Given the description of an element on the screen output the (x, y) to click on. 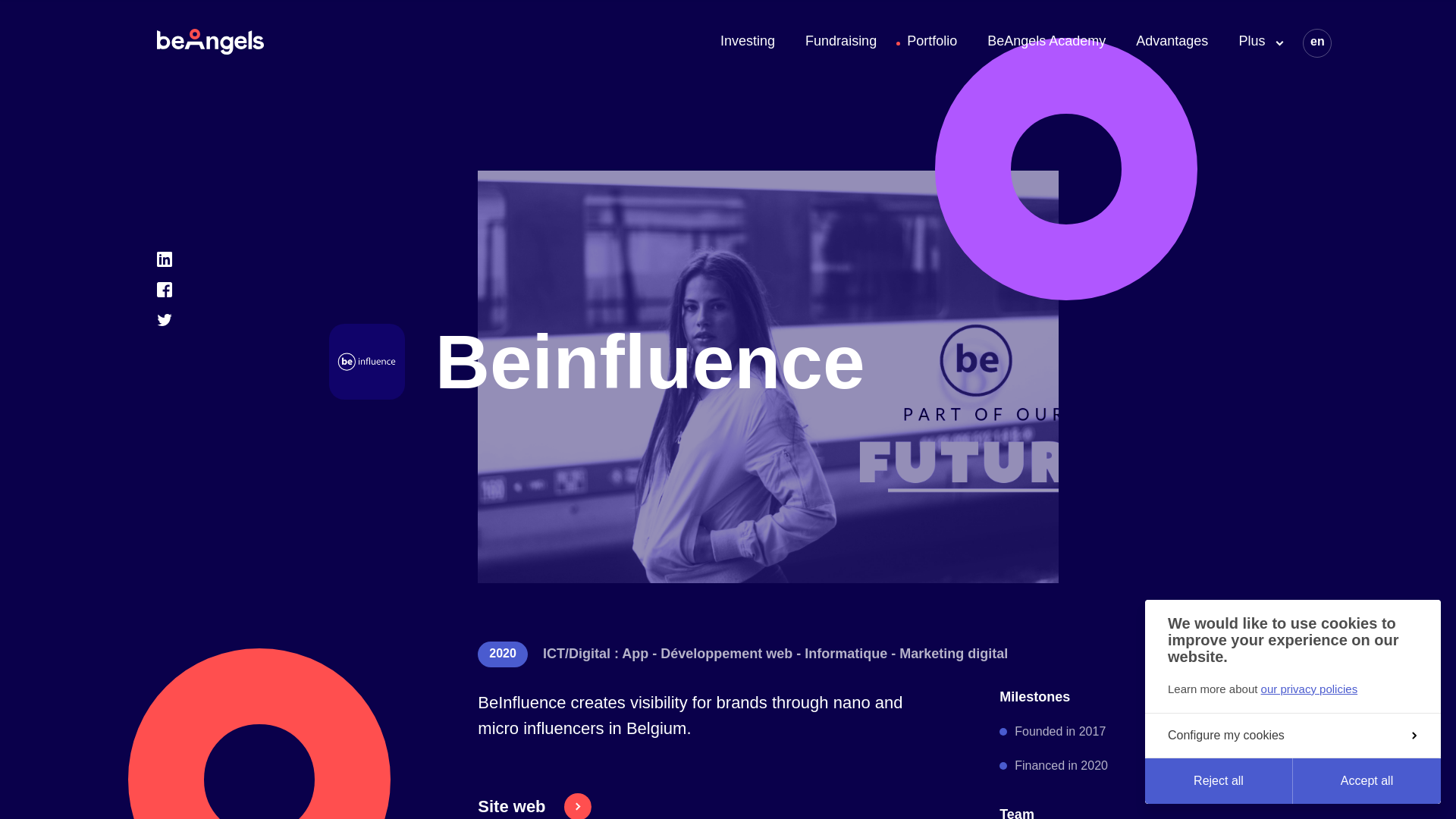
English (1317, 41)
Site web (534, 803)
BeAngels Academy (1046, 41)
Fundraising (840, 41)
Investing (747, 41)
Portfolio (931, 41)
BeAngels (210, 41)
Advantages (1171, 41)
